Given the description of an element on the screen output the (x, y) to click on. 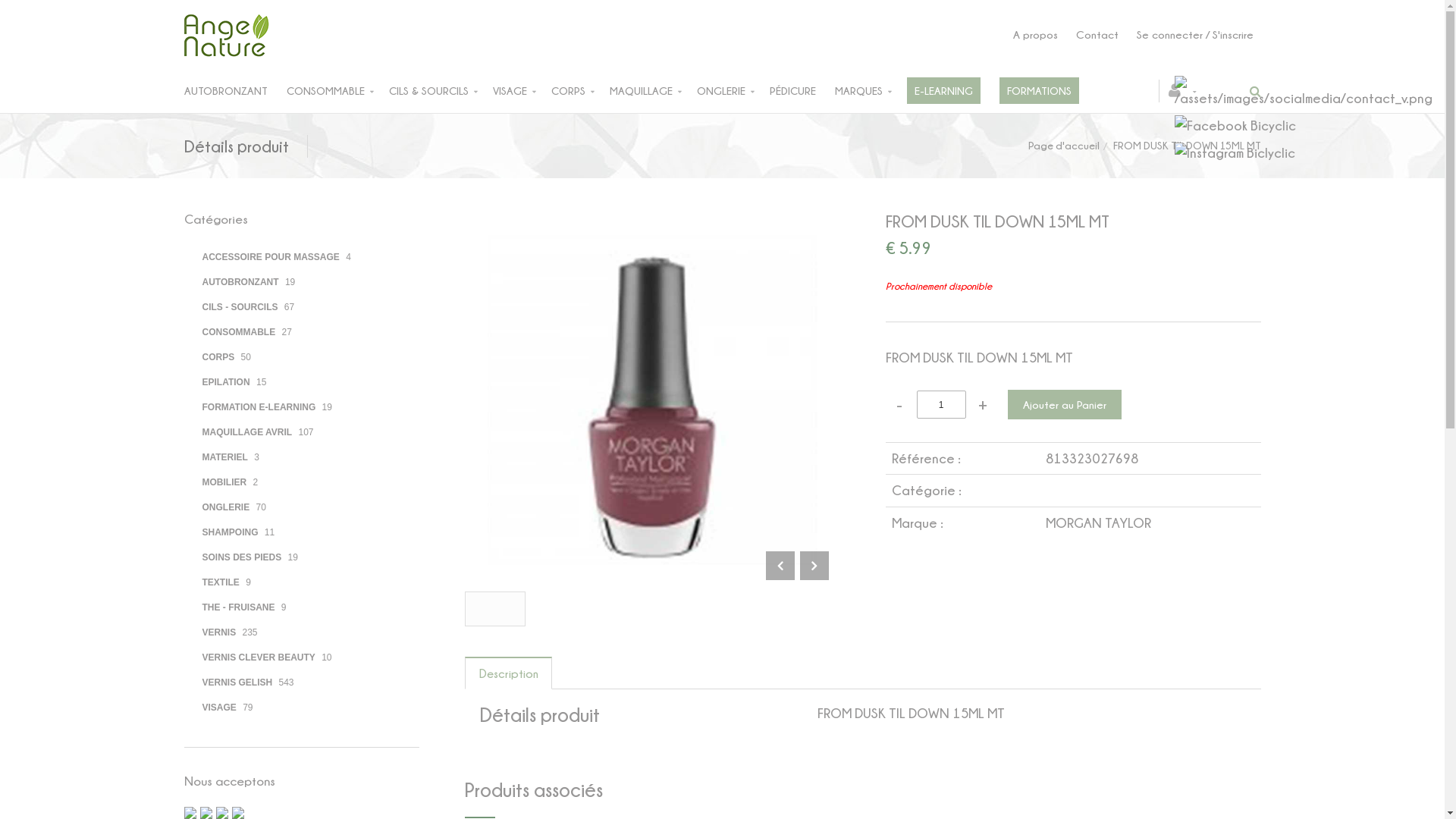
CONSOMMABLE Element type: text (238, 331)
Partager sur Facebook Element type: hover (493, 608)
VISAGE Element type: text (218, 707)
MAQUILLAGE Element type: text (652, 90)
MATERIEL Element type: text (224, 456)
CORPS Element type: text (217, 356)
THE - FRUISANE Element type: text (237, 607)
VISAGE Element type: text (521, 90)
CILS - SOURCILS Element type: text (239, 306)
AUTOBRONZANT Element type: text (234, 90)
Description Element type: text (508, 673)
MOBILIER Element type: text (223, 481)
EPILATION Element type: text (225, 381)
Page d'accueil Element type: text (1063, 144)
FORMATION E-LEARNING Element type: text (258, 406)
- Element type: text (899, 404)
VERNIS CLEVER BEAUTY Element type: text (257, 657)
SHAMPOING Element type: text (229, 531)
Contact Element type: text (1096, 34)
ACCESSOIRE POUR MASSAGE Element type: text (269, 256)
TEXTILE Element type: text (219, 581)
Ajouter au Panier Element type: text (1063, 404)
Se connecter / S'inscrire Element type: text (1194, 34)
SOINS DES PIEDS Element type: text (241, 557)
+ Element type: text (983, 404)
Facebook Element type: hover (1234, 125)
ONGLERIE Element type: text (732, 90)
CILS & SOURCILS Element type: text (440, 90)
CORPS Element type: text (579, 90)
FROM DUSK TIL DOWN 15ML MT Element type: hover (651, 245)
E-LEARNING Element type: text (952, 90)
MARQUES Element type: text (870, 90)
MORGAN TAYLOR Element type: text (1098, 522)
MAQUILLAGE AVRIL Element type: text (246, 431)
VERNIS GELISH Element type: text (236, 681)
VERNIS Element type: text (218, 631)
A propos Element type: text (1035, 34)
FORMATIONS Element type: text (1048, 90)
ONGLERIE Element type: text (225, 507)
AUTOBRONZANT Element type: text (239, 281)
CONSOMMABLE Element type: text (337, 90)
Instagram Element type: hover (1234, 152)
